Given the description of an element on the screen output the (x, y) to click on. 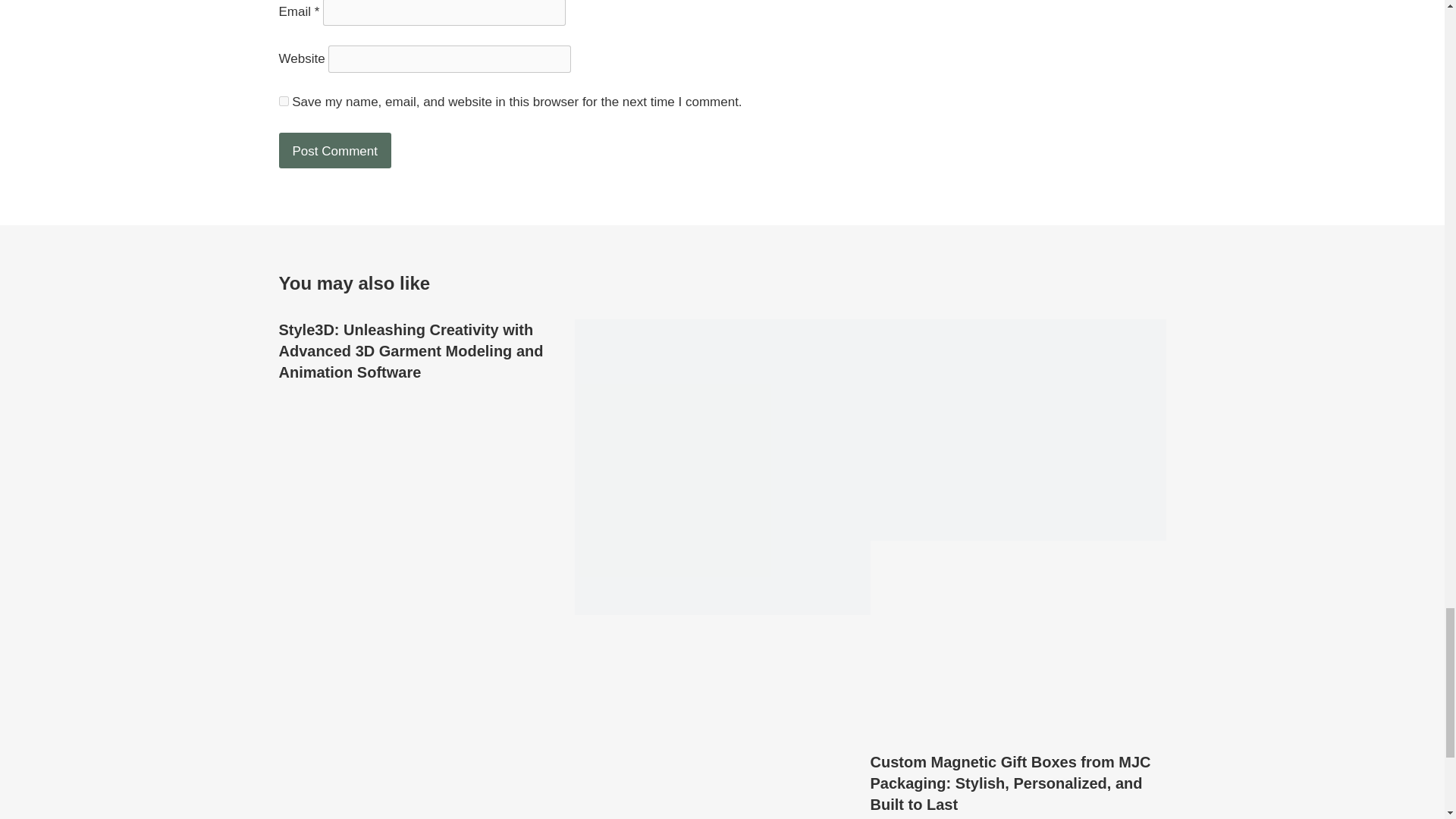
Post Comment (335, 150)
yes (283, 101)
